Given the description of an element on the screen output the (x, y) to click on. 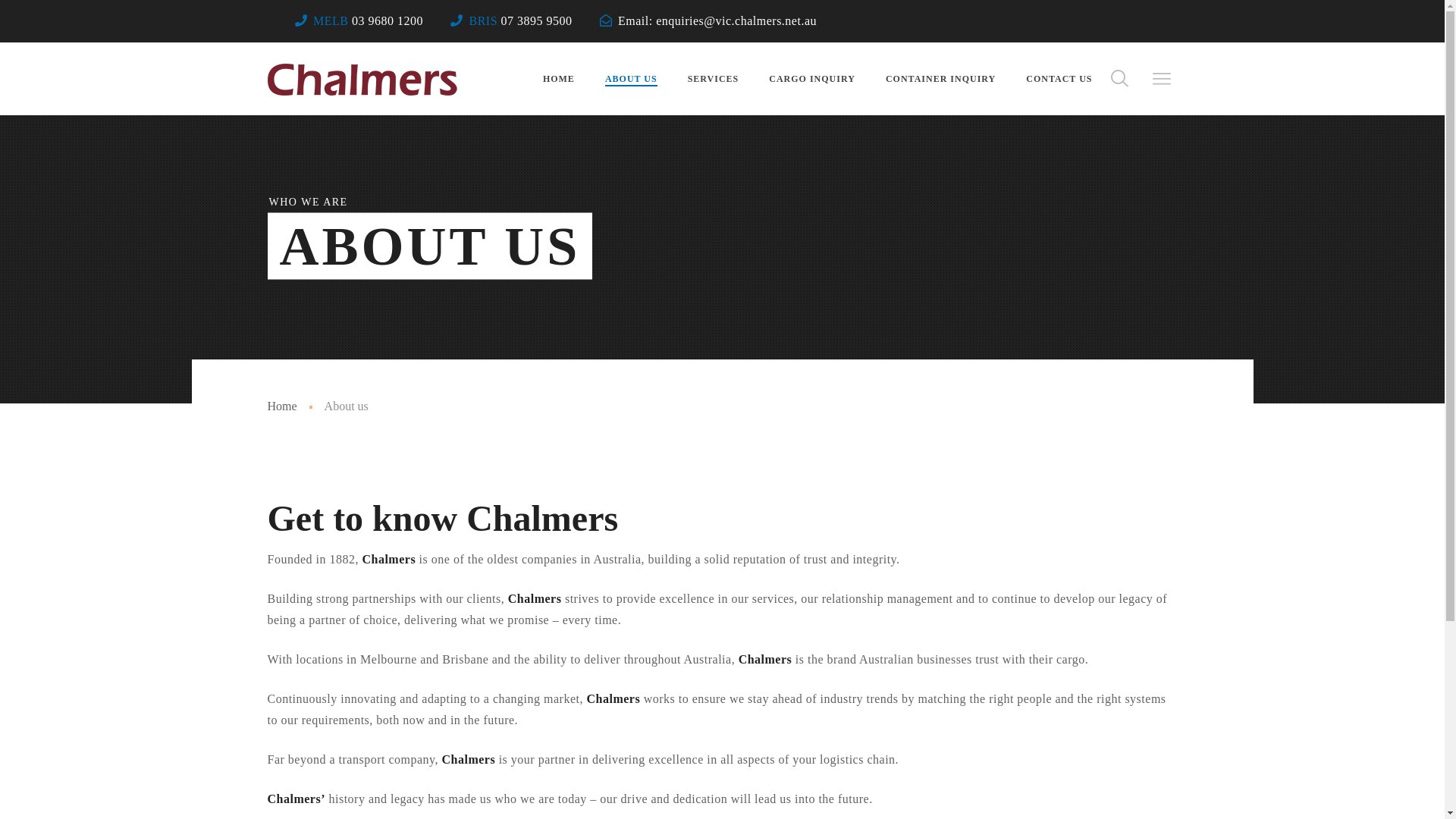
Home Element type: text (281, 405)
MELB 03 9680 1200 Element type: text (368, 20)
HOME Element type: text (558, 78)
Contact us Element type: text (1292, 352)
BRIS 07 3895 9500 Element type: text (519, 20)
Chalmers Element type: hover (361, 78)
CONTAINER INQUIRY Element type: text (940, 78)
CARGO INQUIRY Element type: text (811, 78)
ABOUT US Element type: text (631, 78)
enquiries@vic.chalmers.net.au Element type: text (735, 20)
SERVICES Element type: text (713, 78)
CONTACT US Element type: text (1059, 78)
